Given the description of an element on the screen output the (x, y) to click on. 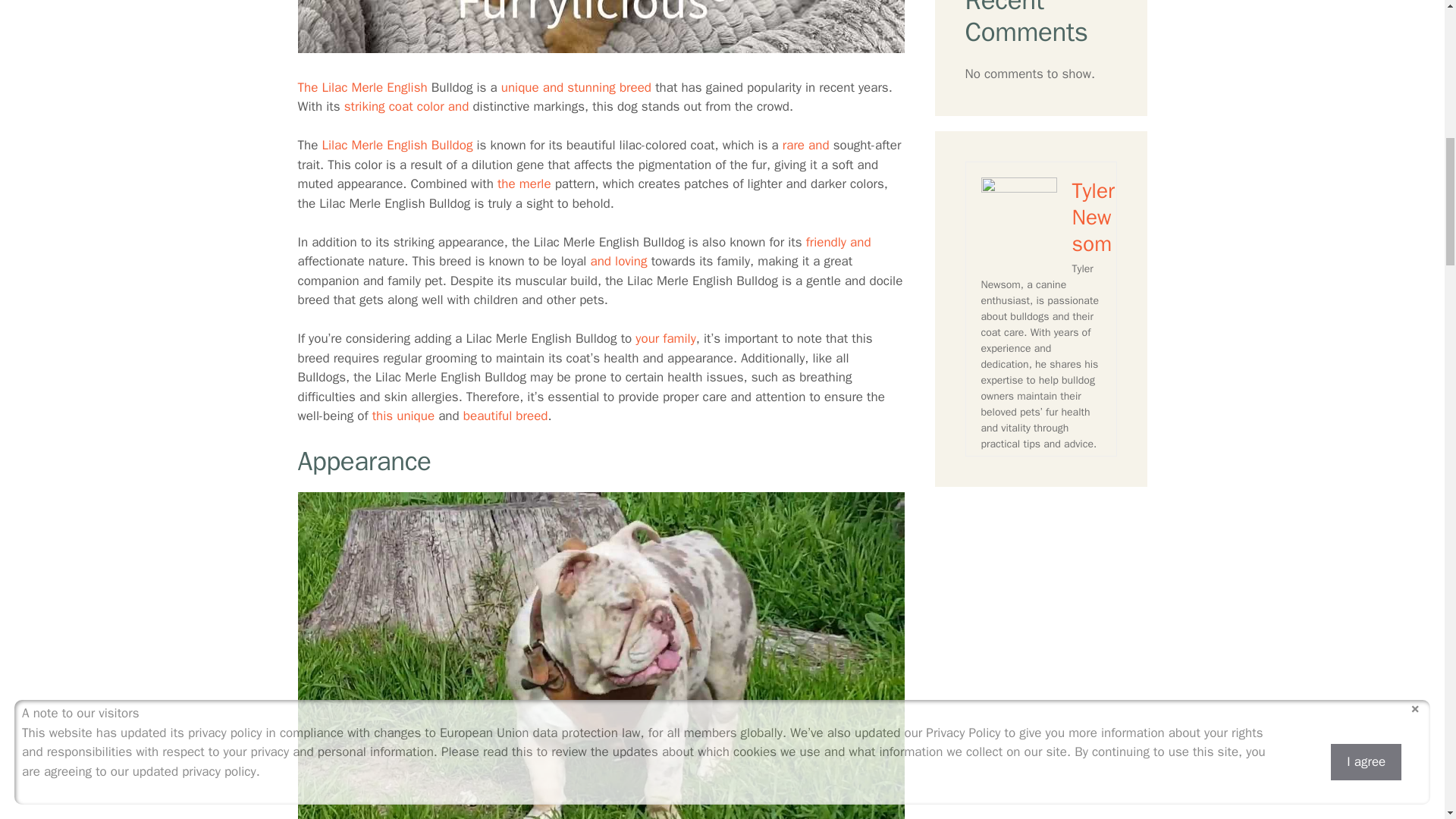
unique and (531, 87)
striking coat (378, 106)
color and (442, 106)
Lilac Merle (351, 145)
stunning breed (608, 87)
friendly and (838, 242)
Scroll back to top (1406, 720)
Merle English (388, 87)
English Bulldog (429, 145)
beautiful breed (505, 415)
